Given the description of an element on the screen output the (x, y) to click on. 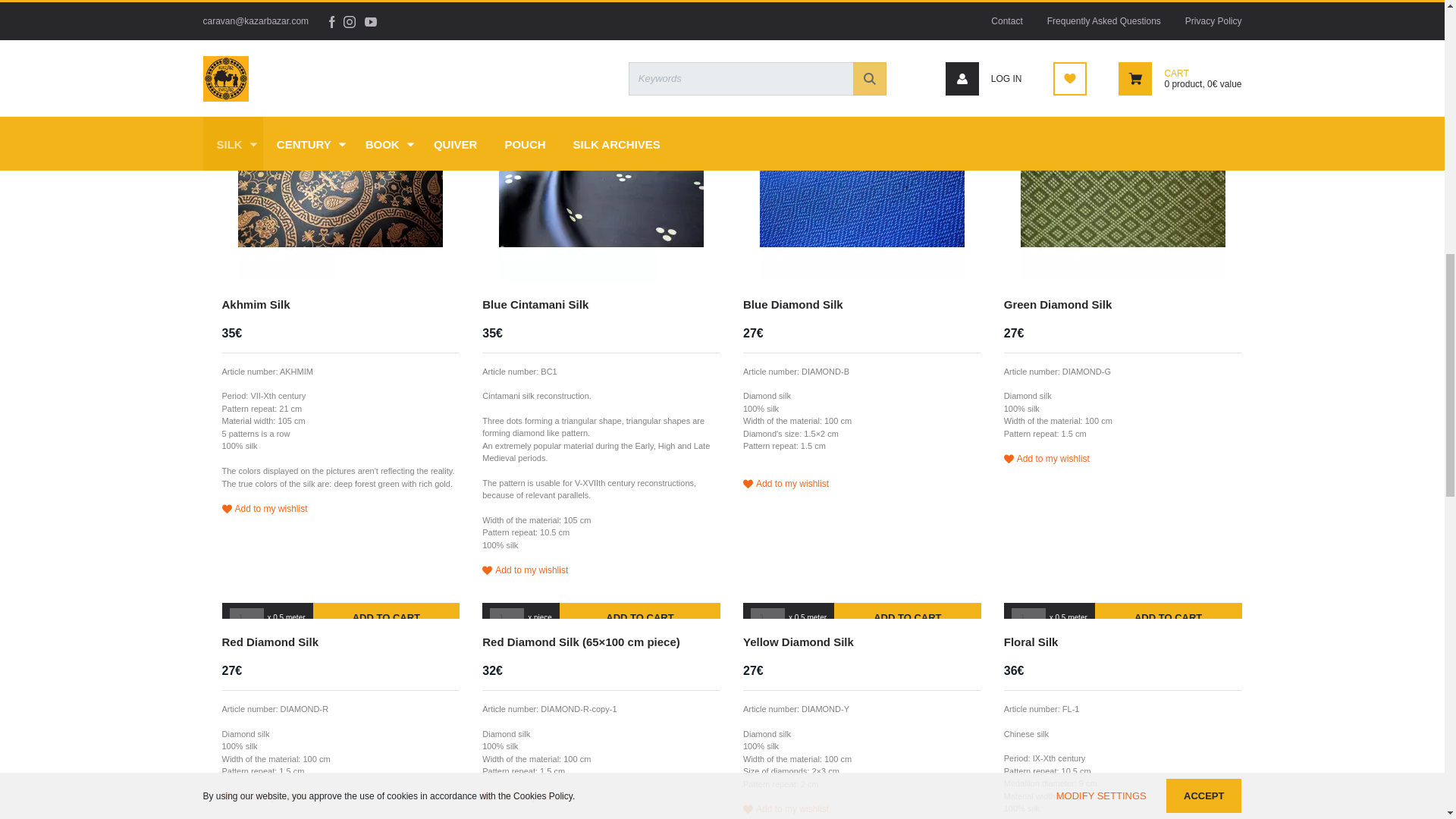
1 (1028, 618)
1 (245, 618)
Cintamani (601, 178)
Add to my wishlist (340, 508)
akhmim (255, 303)
1 (767, 618)
akhmim (340, 178)
1 (506, 618)
